Given the description of an element on the screen output the (x, y) to click on. 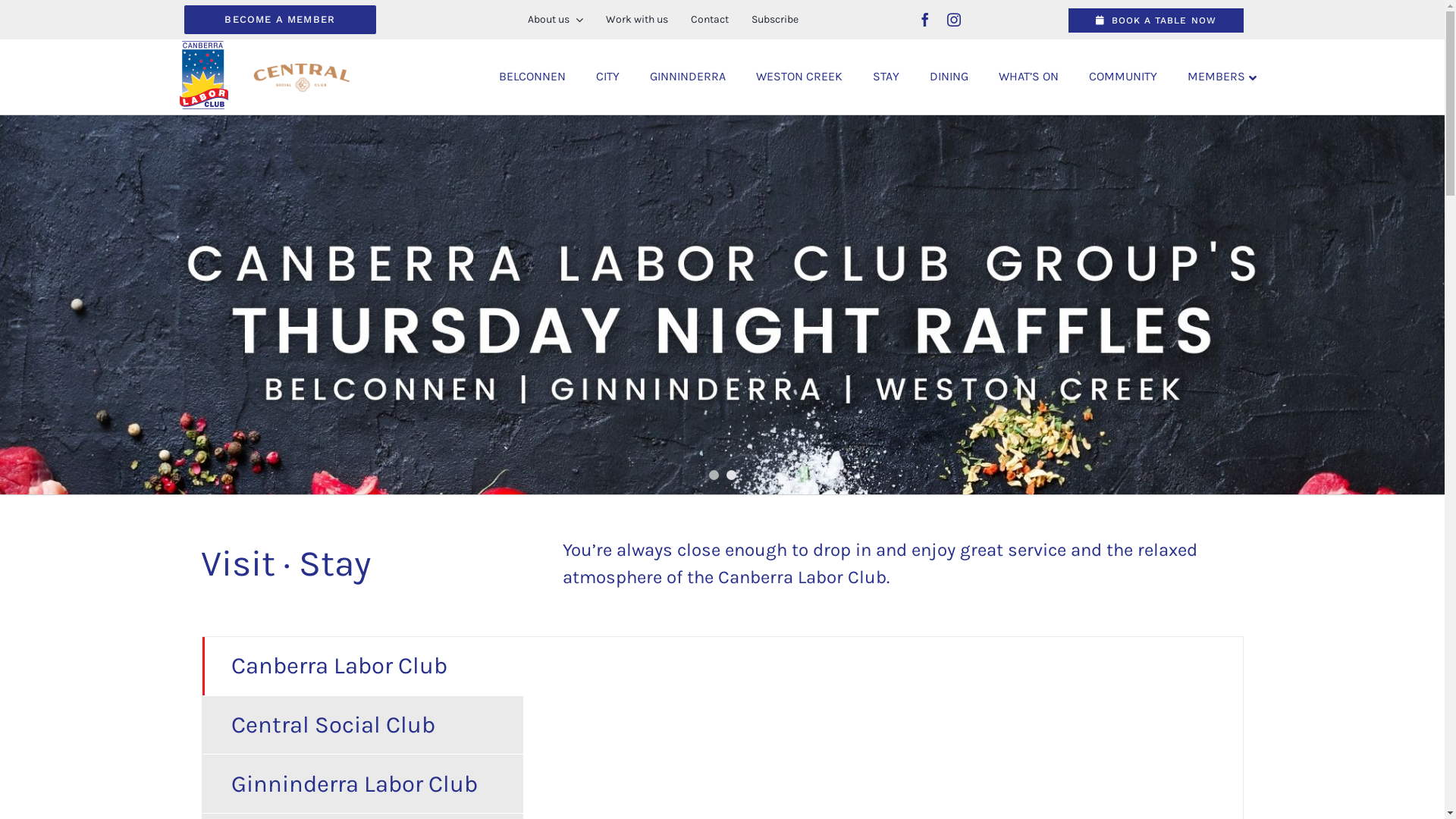
COMMUNITY Element type: text (1122, 76)
DINING Element type: text (948, 76)
BECOME A MEMBER Element type: text (279, 19)
About us Element type: text (555, 19)
Central Social Club Element type: text (362, 725)
GINNINDERRA Element type: text (687, 76)
WESTON CREEK Element type: text (798, 76)
BOOK A TABLE NOW Element type: text (1155, 20)
CITY Element type: text (607, 76)
Contact Element type: text (709, 19)
Work with us Element type: text (636, 19)
BELCONNEN Element type: text (531, 76)
Ginninderra Labor Club Element type: text (362, 783)
STAY Element type: text (885, 76)
Canberra Labor Club Element type: text (362, 666)
Subscribe Element type: text (774, 19)
